Given the description of an element on the screen output the (x, y) to click on. 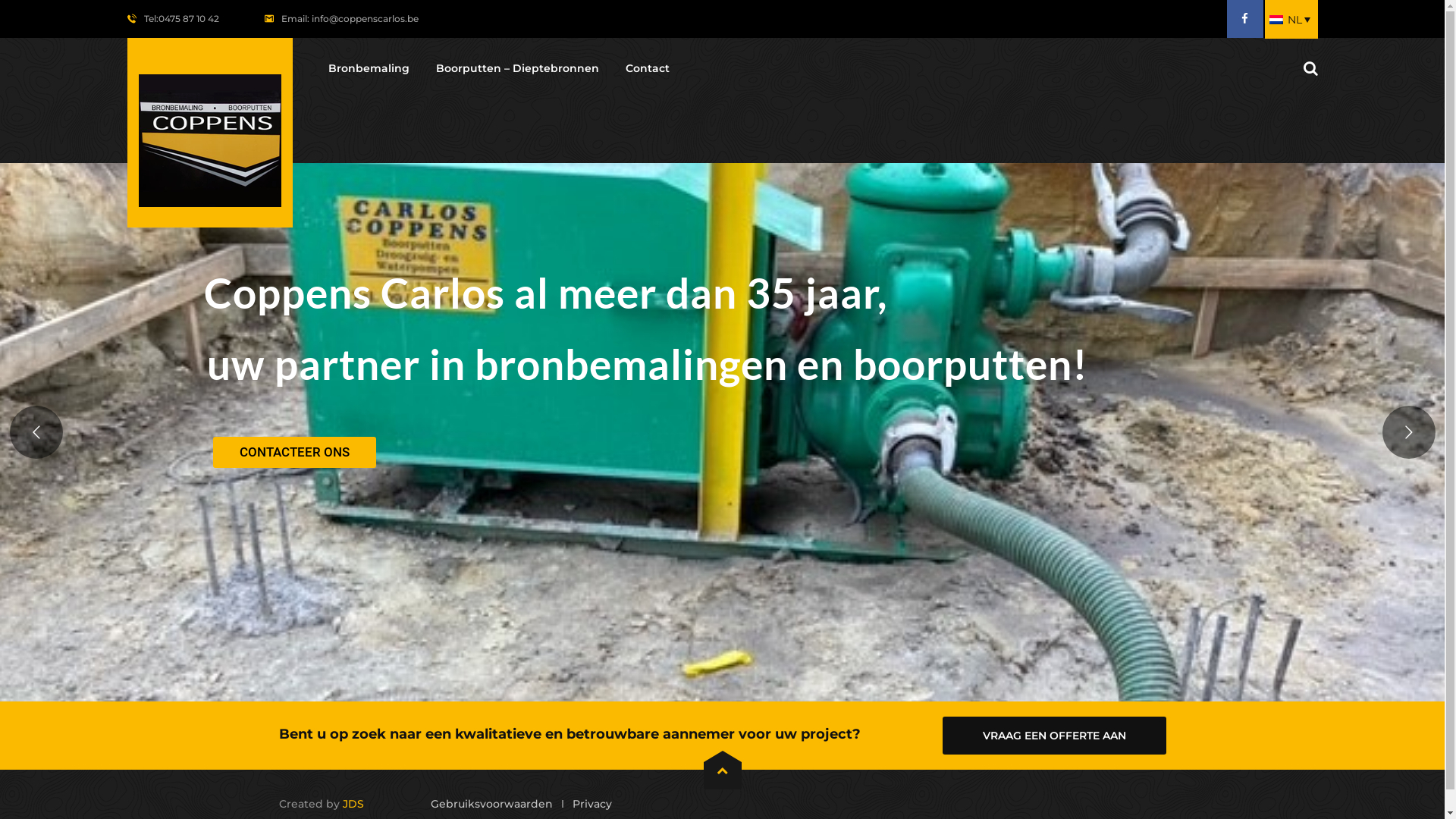
NL Element type: text (1290, 19)
CONTACTEER ONS Element type: text (293, 451)
Gebruiksvoorwaarden Element type: text (491, 803)
Privacy Element type: text (591, 803)
VRAAG EEN OFFERTE AAN Element type: text (1053, 735)
Coppens Carlos Element type: hover (209, 132)
NL Element type: hover (1276, 19)
Bronbemaling Element type: text (367, 68)
info@coppenscarlos.be Element type: text (363, 18)
JDS Element type: text (353, 803)
Contact Element type: text (646, 68)
